Given the description of an element on the screen output the (x, y) to click on. 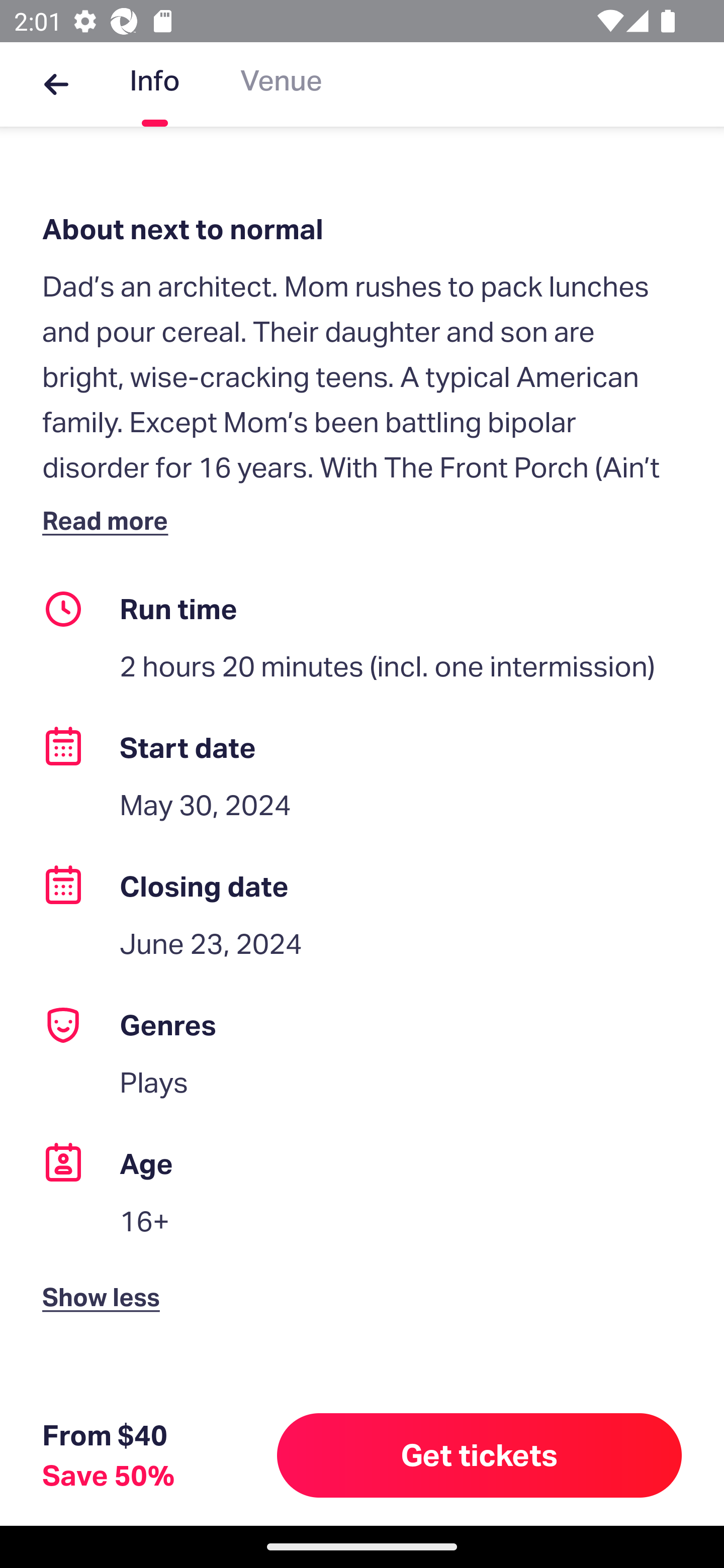
Venue (280, 84)
About next to normal (361, 229)
Read more (109, 519)
Show less (104, 1279)
Get tickets (479, 1454)
